Given the description of an element on the screen output the (x, y) to click on. 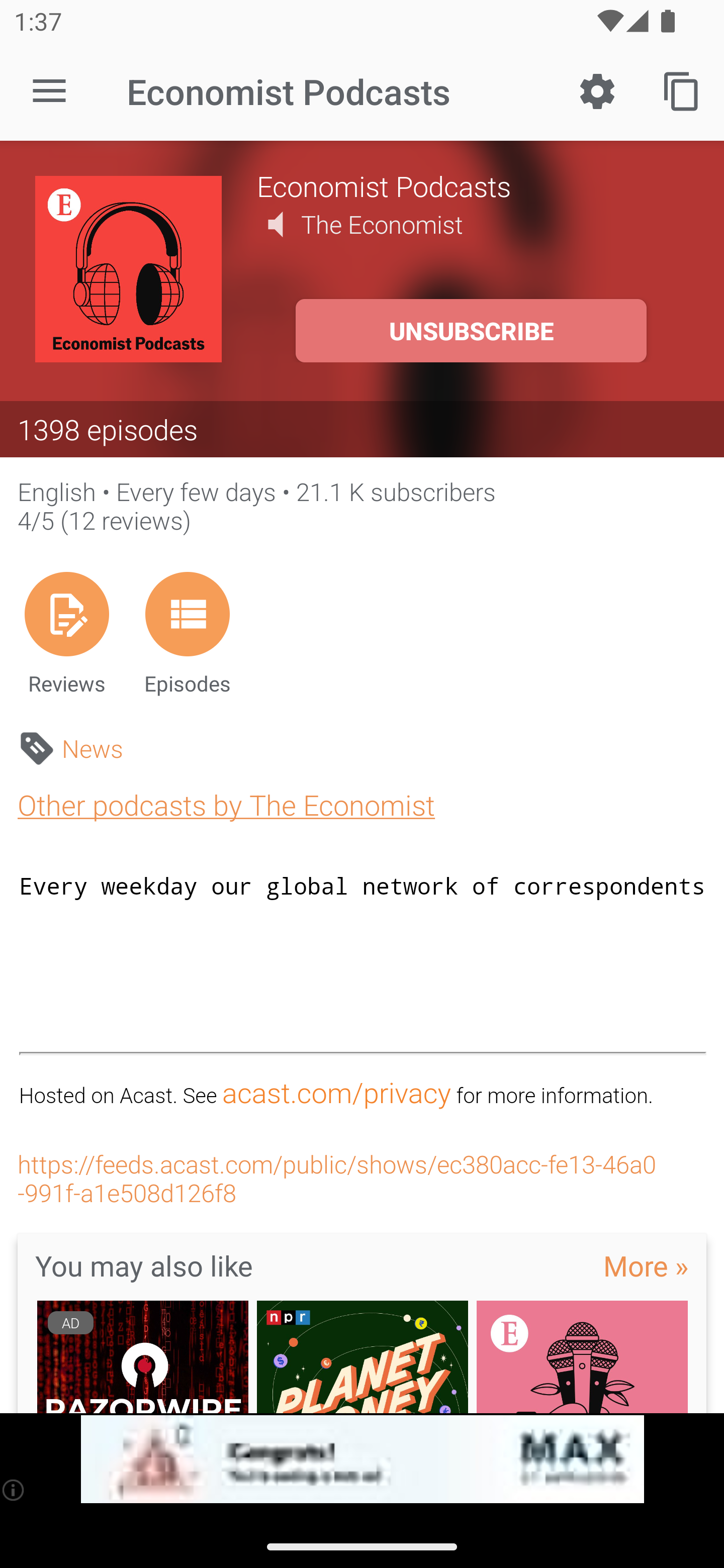
Open navigation sidebar (49, 91)
Settings (597, 90)
Copy feed url to clipboard (681, 90)
Economist Podcasts (472, 185)
UNSUBSCRIBE (470, 330)
Reviews (66, 633)
Episodes (187, 633)
Other podcasts by The Economist (226, 804)
acast.com/privacy (336, 1092)
More » (645, 1265)
AD (142, 1355)
app-monetization (362, 1459)
(i) (14, 1489)
